Given the description of an element on the screen output the (x, y) to click on. 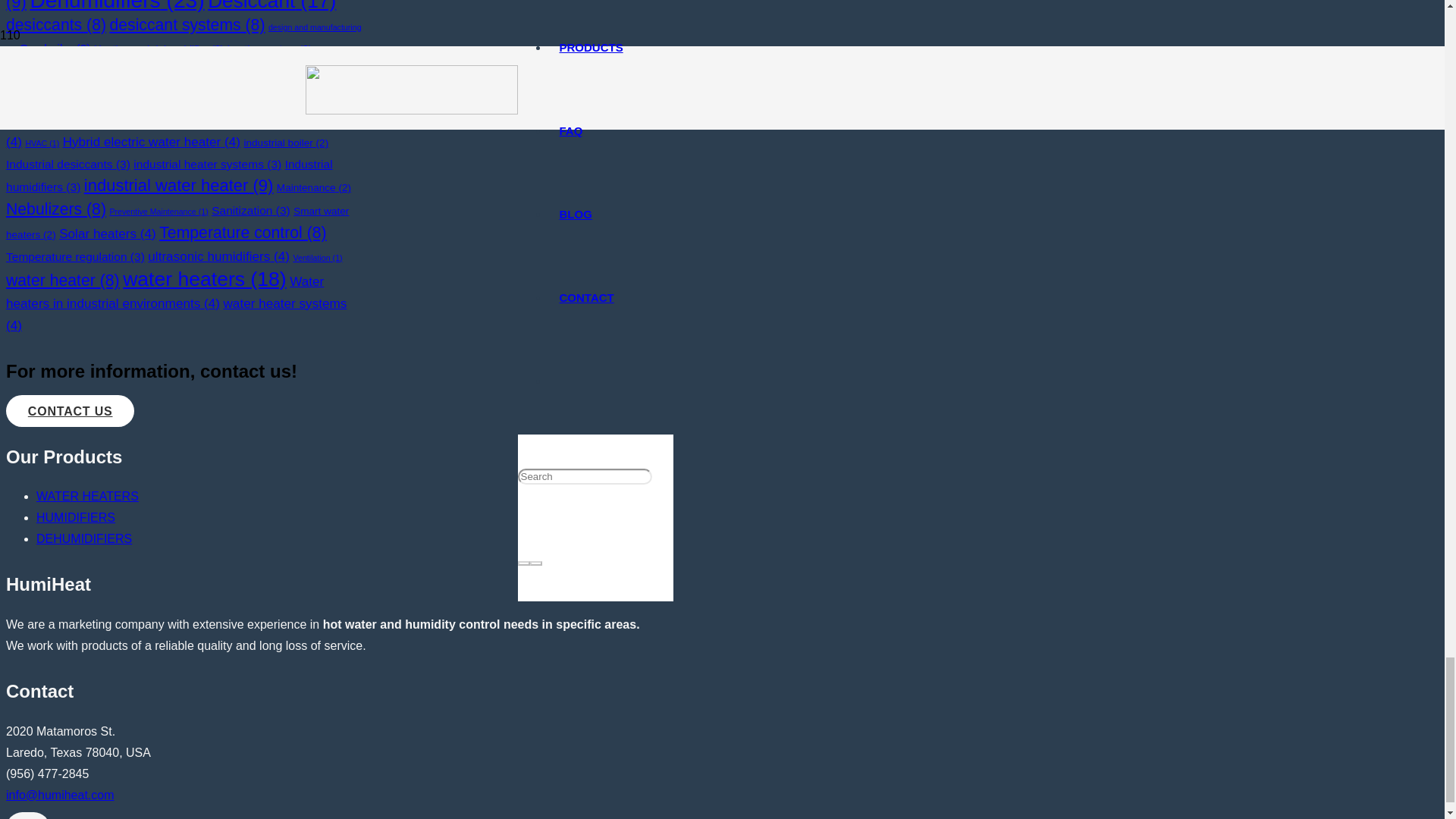
Contact (69, 410)
